Given the description of an element on the screen output the (x, y) to click on. 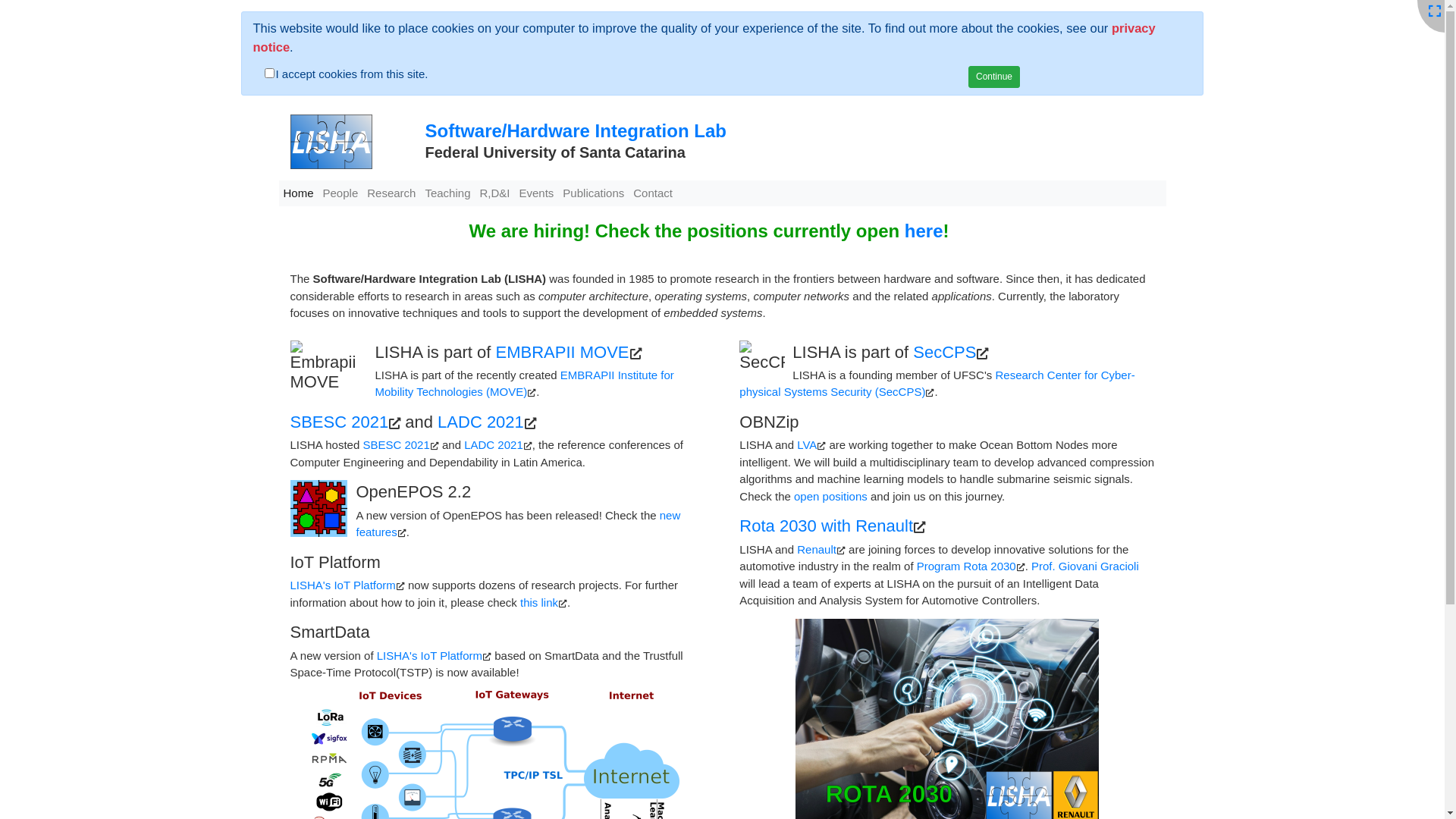
Program Rota 2030 Element type: text (966, 565)
Renault Element type: text (816, 548)
SBESC 2021 Element type: text (338, 421)
Fullscreen Element type: hover (1434, 11)
EMBRAPII Institute for Mobility Technologies (MOVE) Element type: text (523, 383)
Home Element type: text (298, 193)
LADC 2021 Element type: text (480, 421)
Rota 2030 with Renault Element type: text (826, 525)
here Element type: text (923, 230)
open positions Element type: text (830, 495)
Prof. Giovani Gracioli Element type: text (1085, 565)
LISHA Element type: hover (325, 141)
LVA Element type: text (806, 444)
LADC 2021 Element type: text (493, 444)
LISHA's IoT Platform Element type: text (342, 584)
Publications Element type: text (593, 193)
Software/Hardware Integration Lab Element type: text (574, 129)
Continue Element type: text (993, 76)
this link Element type: text (539, 602)
SecCPS Element type: text (944, 351)
Events Element type: text (536, 193)
People Element type: text (340, 193)
LISHA's IoT Platform Element type: text (429, 655)
EMBRAPII MOVE Element type: text (561, 351)
new features Element type: text (518, 523)
privacy notice Element type: text (704, 37)
Contact Element type: text (652, 193)
Research Center for Cyber-physical Systems Security (SecCPS) Element type: text (936, 383)
Teaching Element type: text (447, 193)
R,D&I Element type: text (494, 193)
SBESC 2021 Element type: text (395, 444)
Research Element type: text (391, 193)
